Given the description of an element on the screen output the (x, y) to click on. 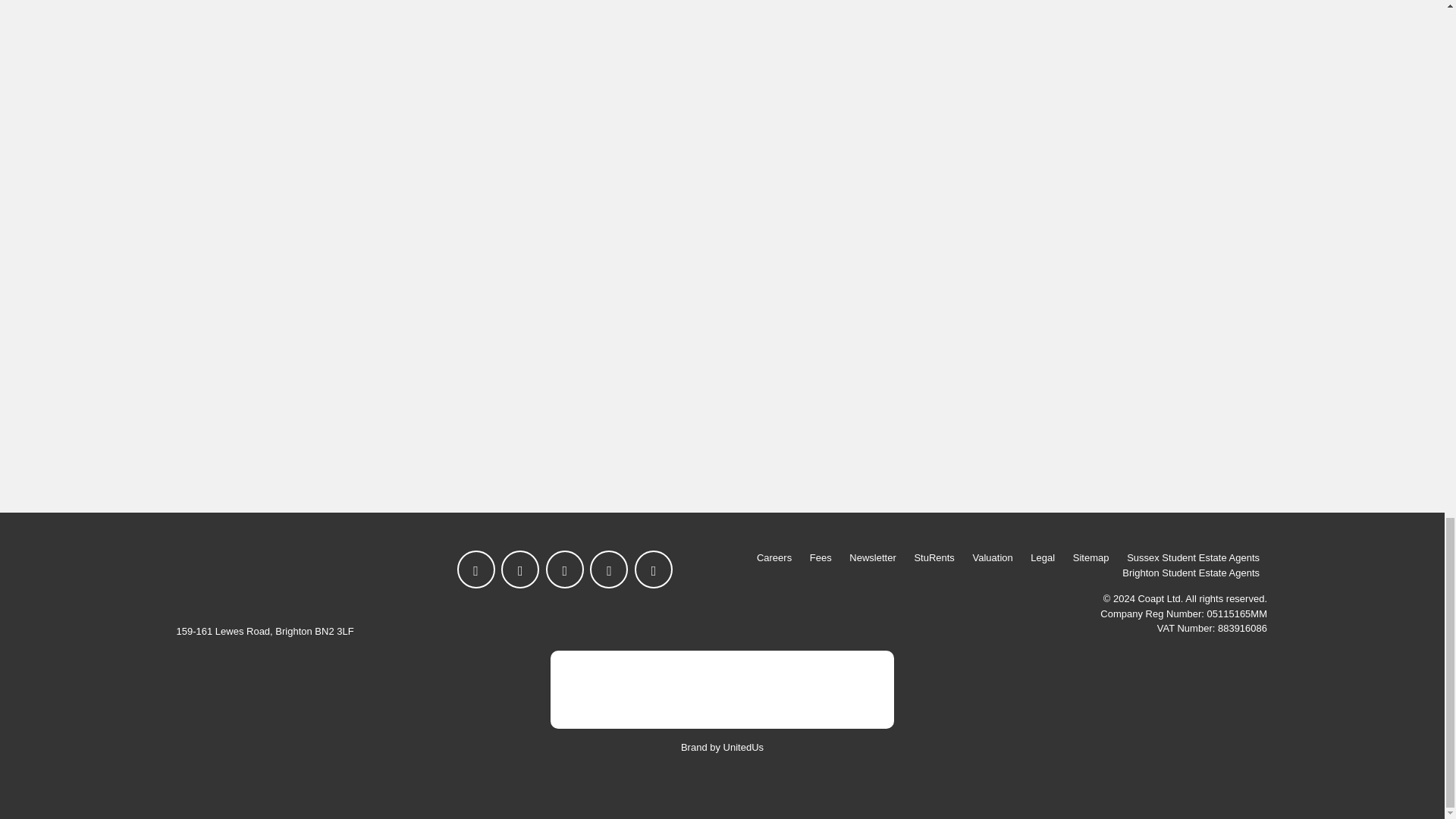
Coapt on Facebook (476, 569)
StuRents (932, 557)
Newsletter (871, 557)
Coapt on Twitter (519, 569)
Careers (774, 557)
Valuation (991, 557)
Fees (821, 557)
